Given the description of an element on the screen output the (x, y) to click on. 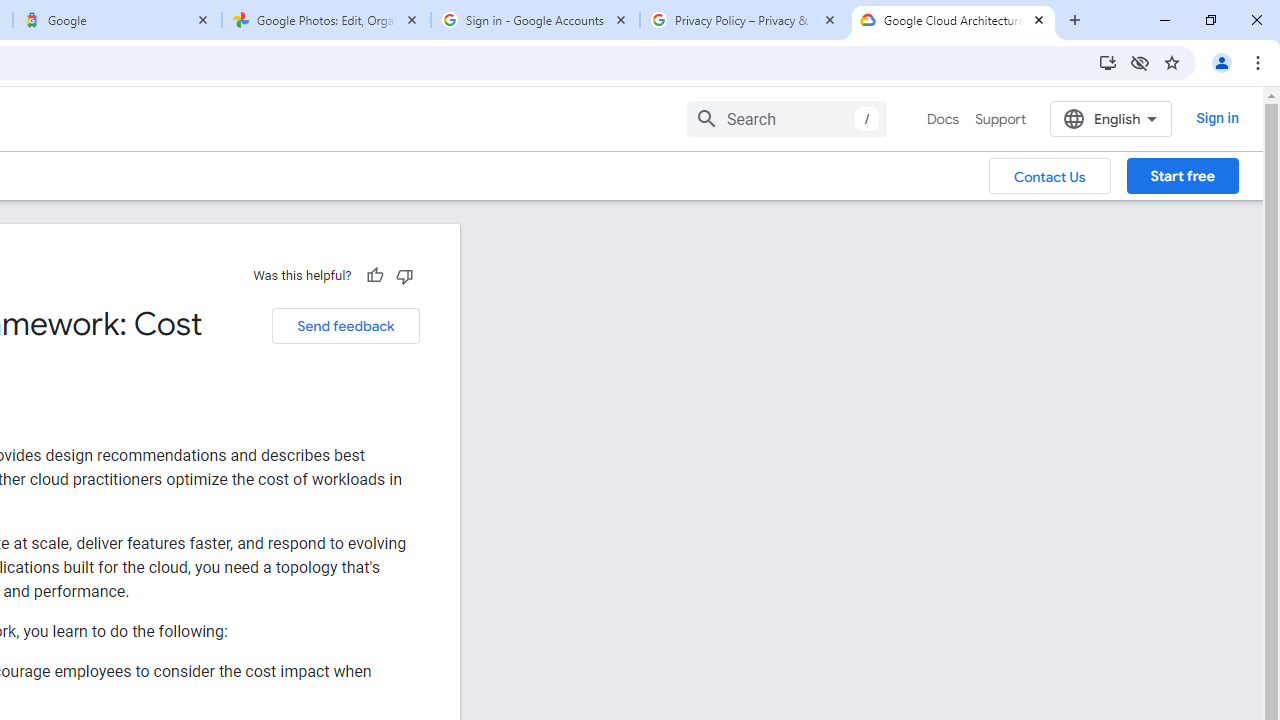
Sign in - Google Accounts (535, 20)
Google (116, 20)
Install Google Cloud (1107, 62)
Docs, selected (942, 119)
Support (1000, 119)
